Given the description of an element on the screen output the (x, y) to click on. 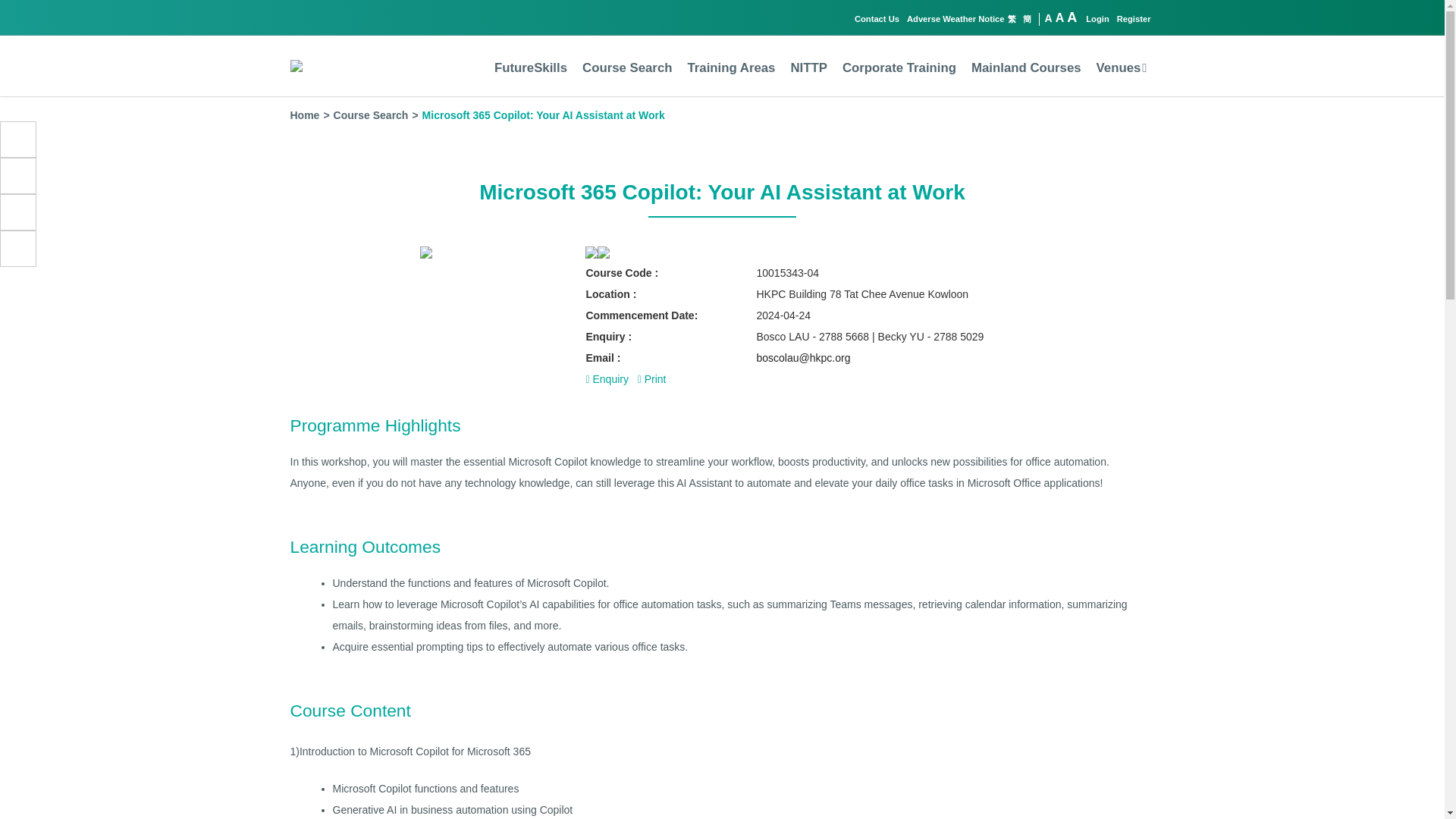
Adverse Weather Notice (955, 18)
NITTP (808, 67)
Mainland Courses (1026, 67)
Course Search (626, 67)
Training Areas (730, 67)
Corporate Training (899, 67)
Register (1133, 18)
FutureSkills (531, 67)
Login (1097, 18)
Contact Us (876, 18)
Venues (1121, 67)
